Given the description of an element on the screen output the (x, y) to click on. 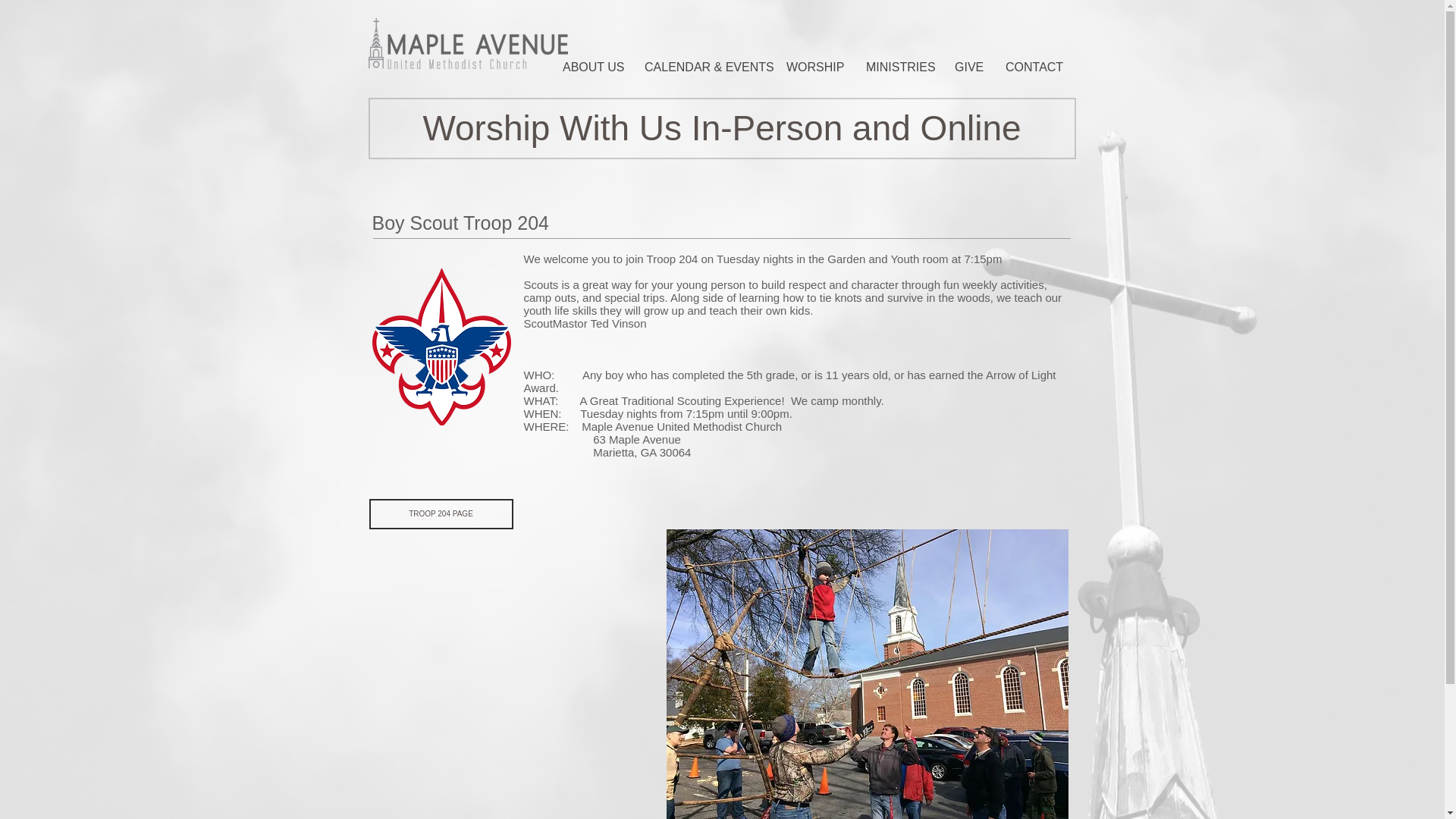
GIVE (967, 67)
ABOUT US (590, 67)
WORSHIP (813, 67)
CONTACT (1032, 67)
Worship With Us In-Person and Online (721, 127)
TROOP 204 PAGE (440, 513)
